Given the description of an element on the screen output the (x, y) to click on. 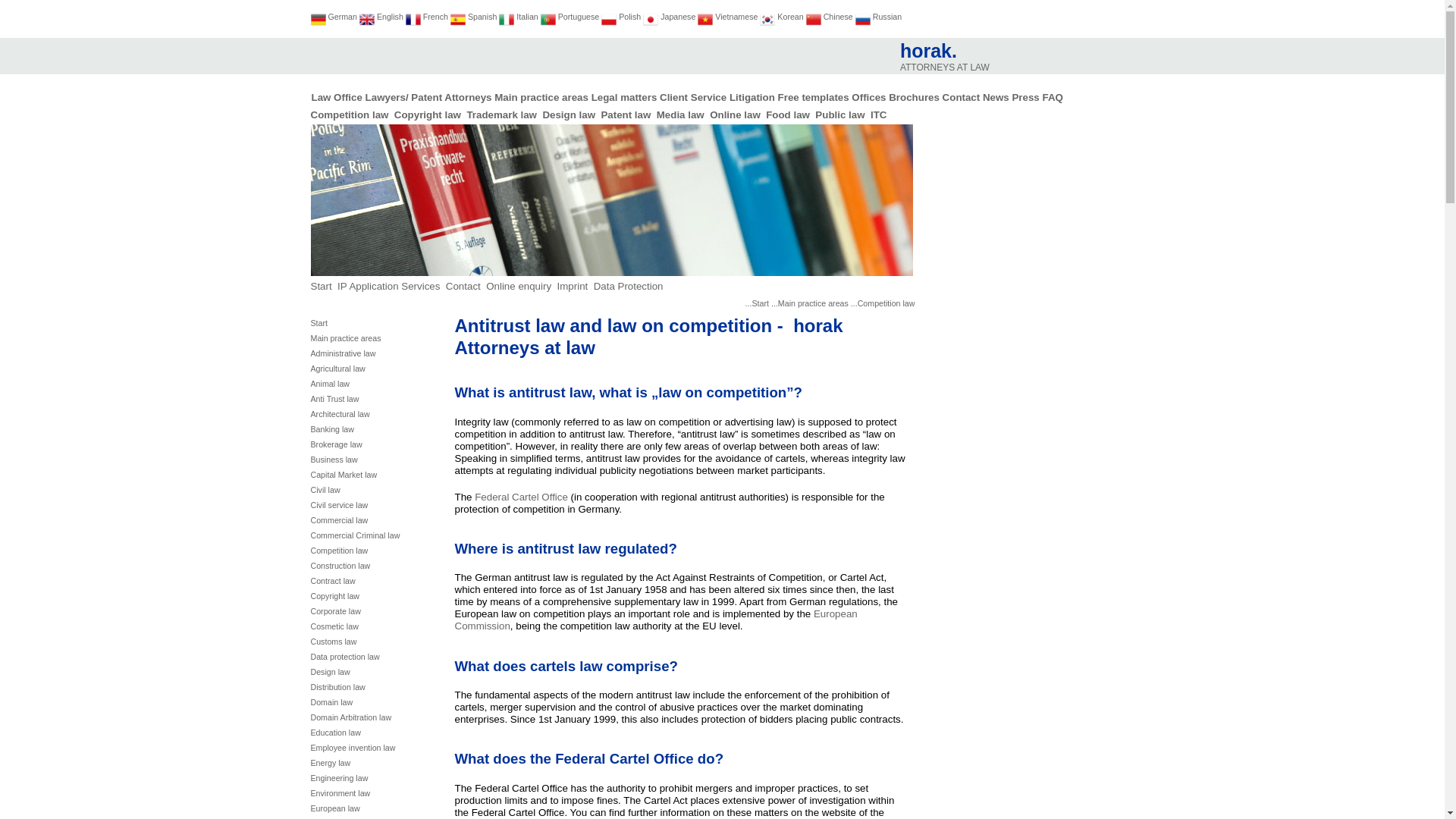
English (390, 16)
Anwalt Deutschland Fachanwalt deutsch (318, 19)
Italian (526, 16)
Spanish (944, 60)
Brochures (482, 16)
Russian (915, 97)
Attorney in Germany spanish language abogado alemania  (885, 16)
Japanese (457, 19)
News (678, 16)
